Given the description of an element on the screen output the (x, y) to click on. 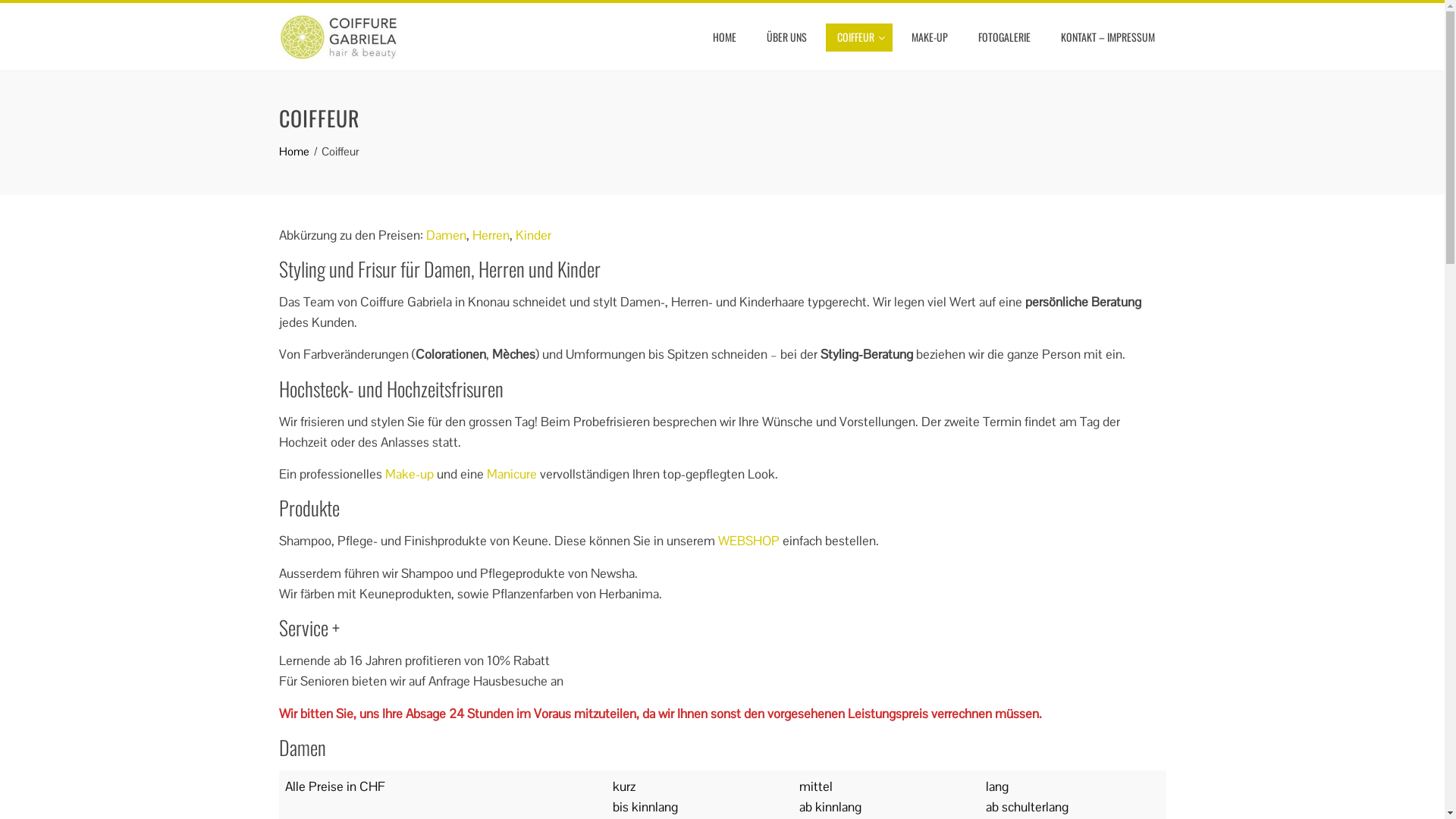
WEBSHOP Element type: text (747, 540)
Home Element type: text (294, 151)
COIFFEUR Element type: text (858, 37)
Manicure Element type: text (511, 473)
Damen Element type: text (446, 234)
Make-up Element type: text (409, 473)
Kinder Element type: text (533, 234)
HOME Element type: text (723, 36)
FOTOGALERIE Element type: text (1003, 36)
MAKE-UP Element type: text (928, 36)
Herren Element type: text (489, 234)
